Given the description of an element on the screen output the (x, y) to click on. 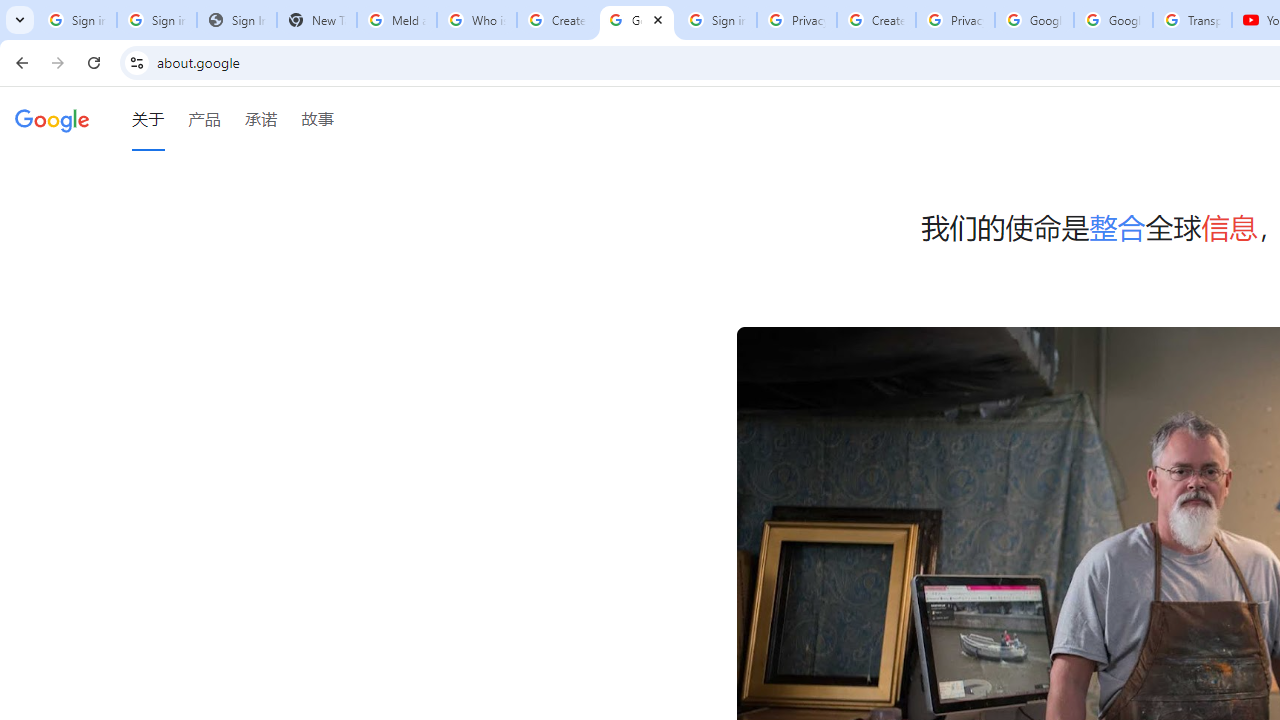
Sign in - Google Accounts (716, 20)
Google (52, 119)
Create your Google Account (876, 20)
